Given the description of an element on the screen output the (x, y) to click on. 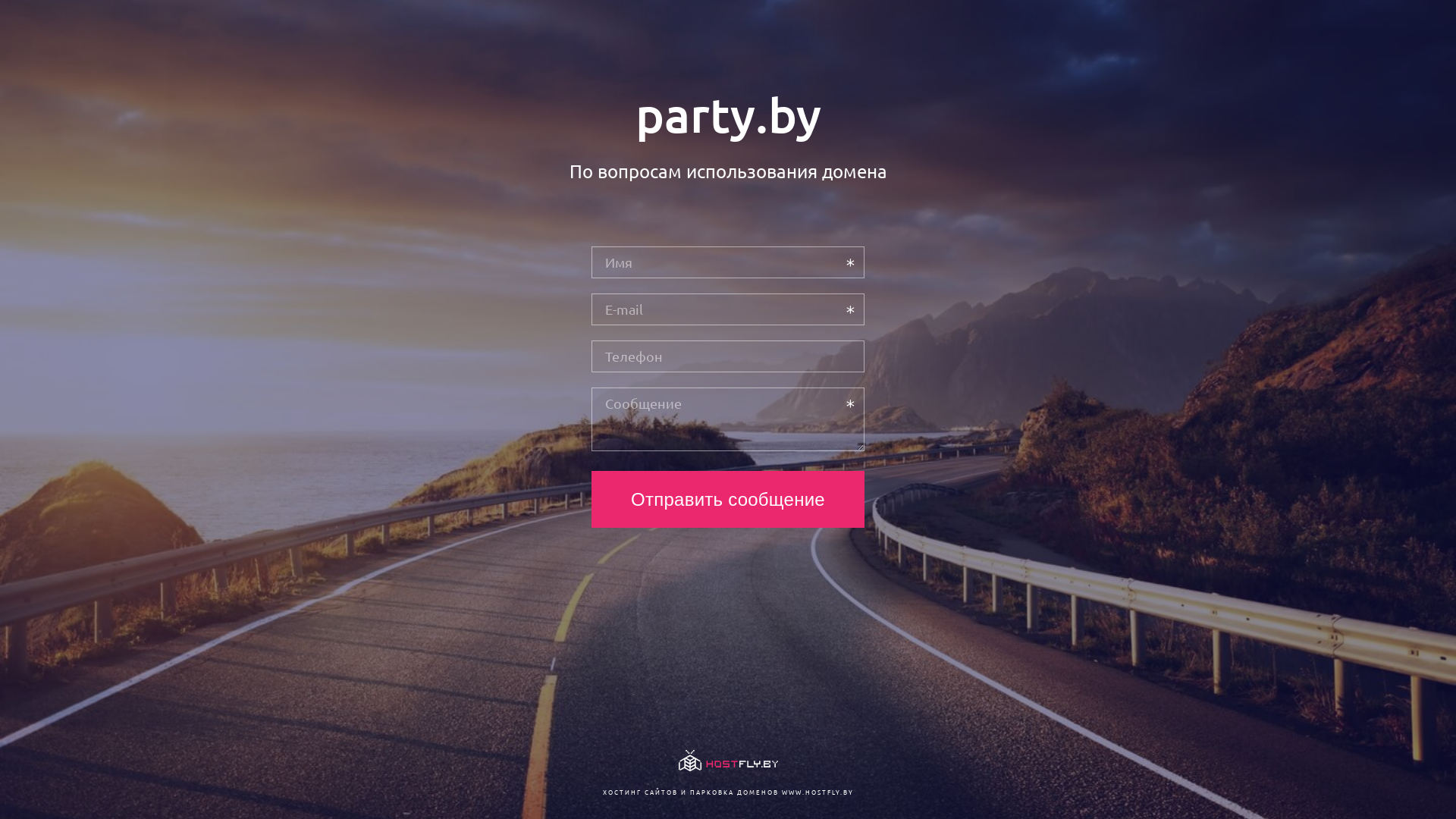
WWW.HOSTFLY.BY Element type: text (817, 791)
